Given the description of an element on the screen output the (x, y) to click on. 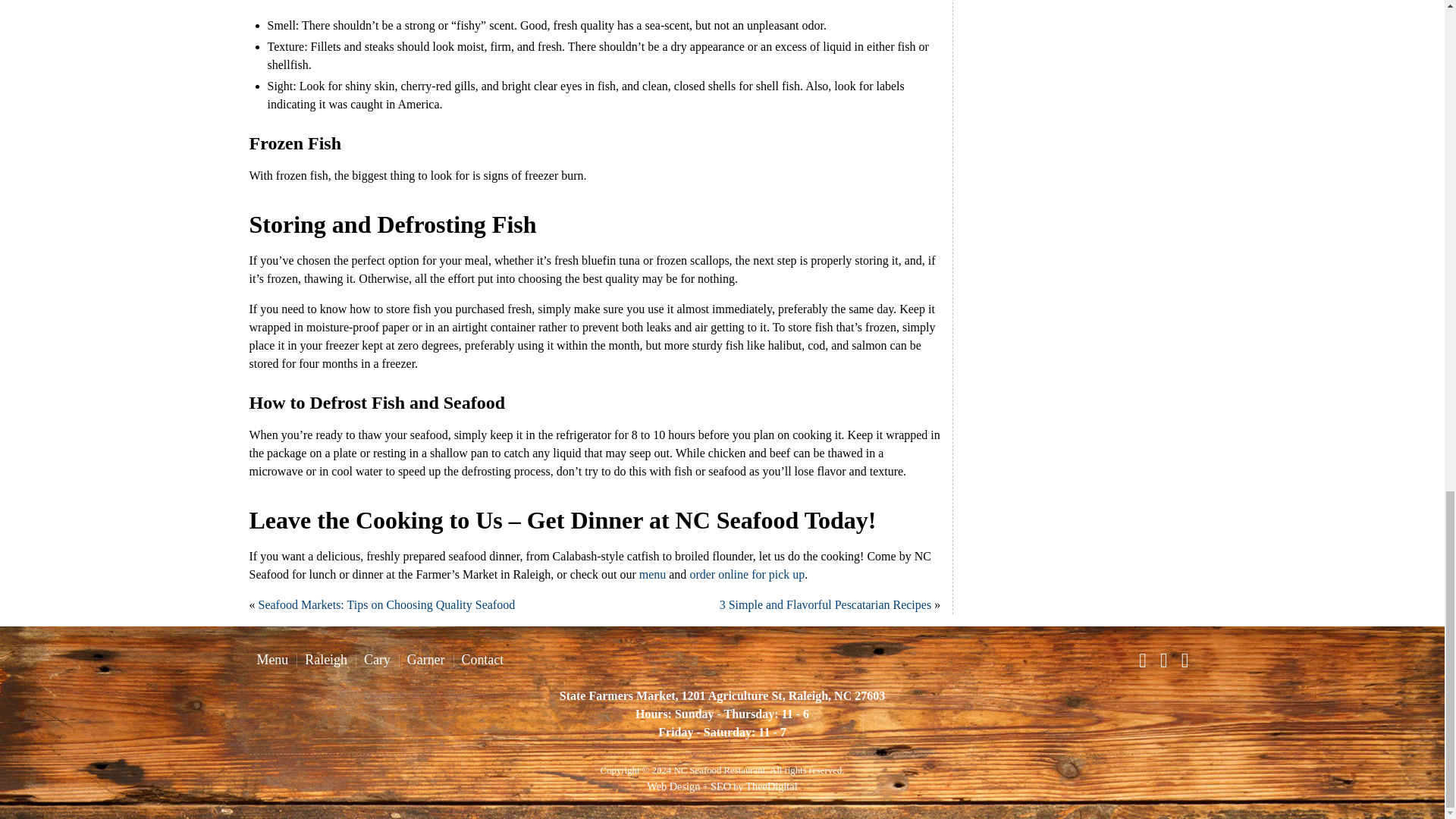
order online for pick up (746, 574)
Cary (377, 659)
Raleigh SEO (720, 786)
Garner (426, 659)
Raleigh Internet Marketing Agency (770, 786)
SEO (720, 786)
3 Simple and Flavorful Pescatarian Recipes (825, 604)
NC Seafood Restaurant Menu (272, 659)
Raleigh (325, 659)
menu (652, 574)
